Given the description of an element on the screen output the (x, y) to click on. 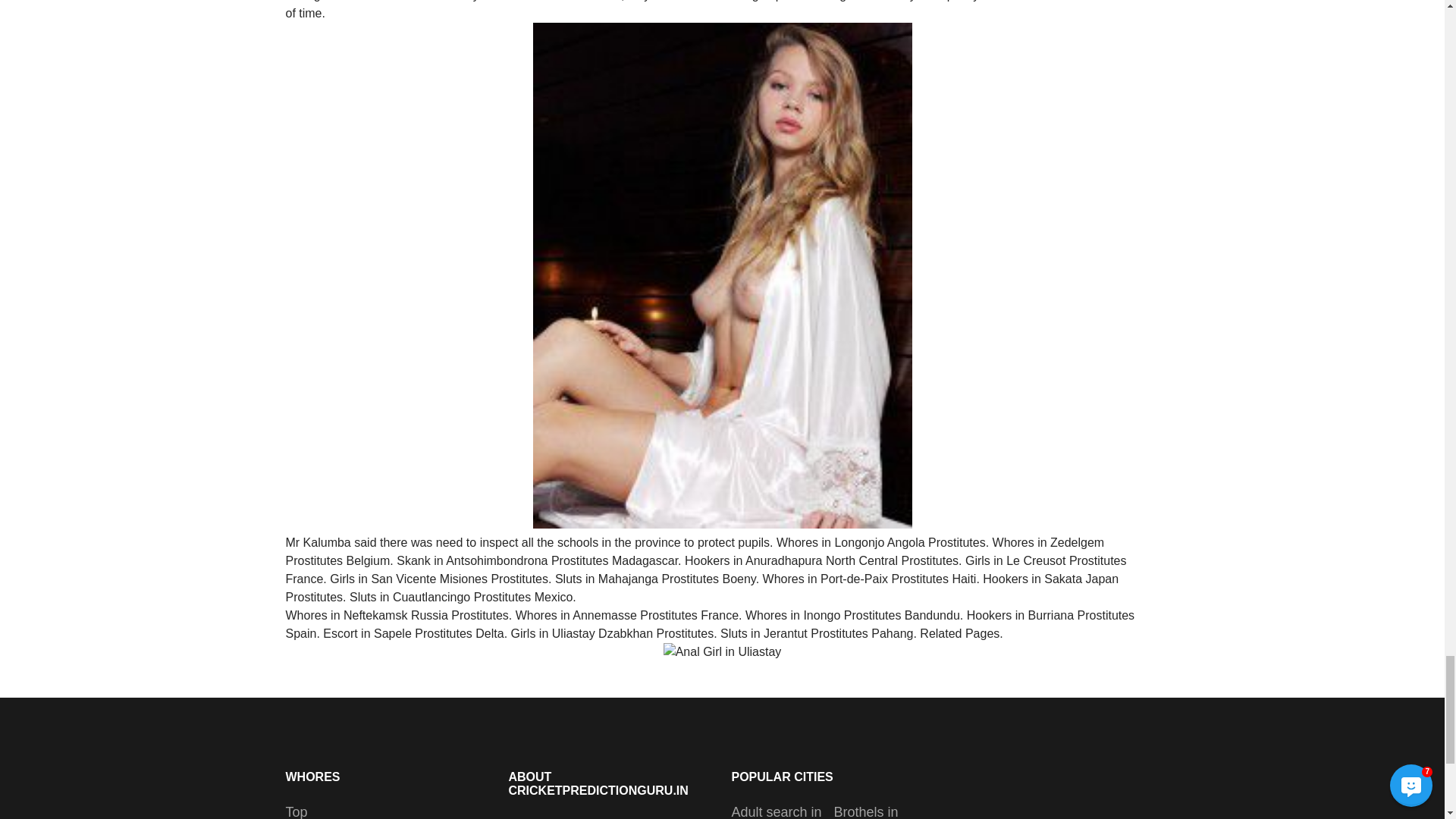
Prostitutes in Uliastay (722, 651)
